Given the description of an element on the screen output the (x, y) to click on. 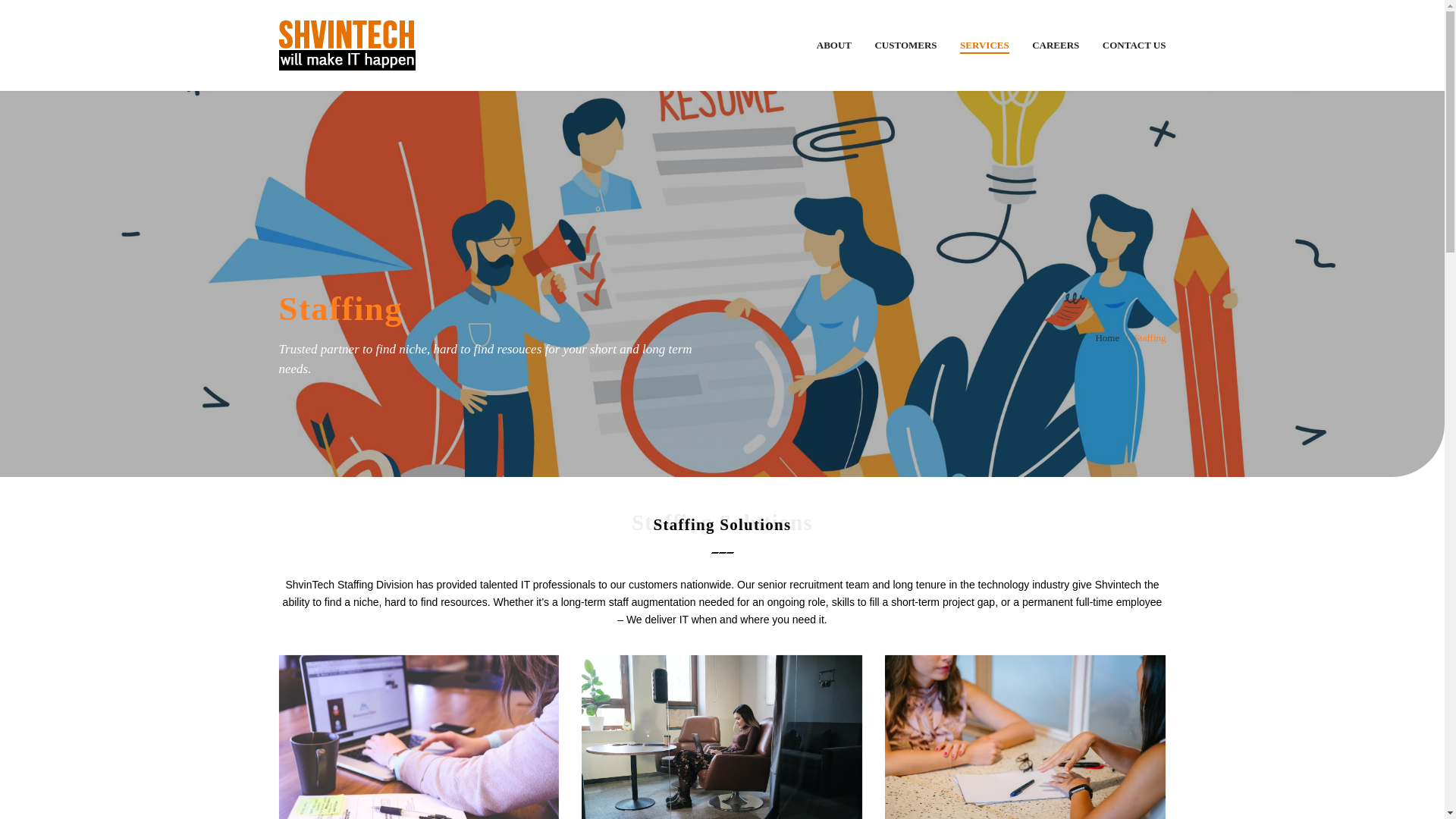
CUSTOMERS (905, 44)
Home (1107, 338)
CONTACT US (1134, 44)
